Given the description of an element on the screen output the (x, y) to click on. 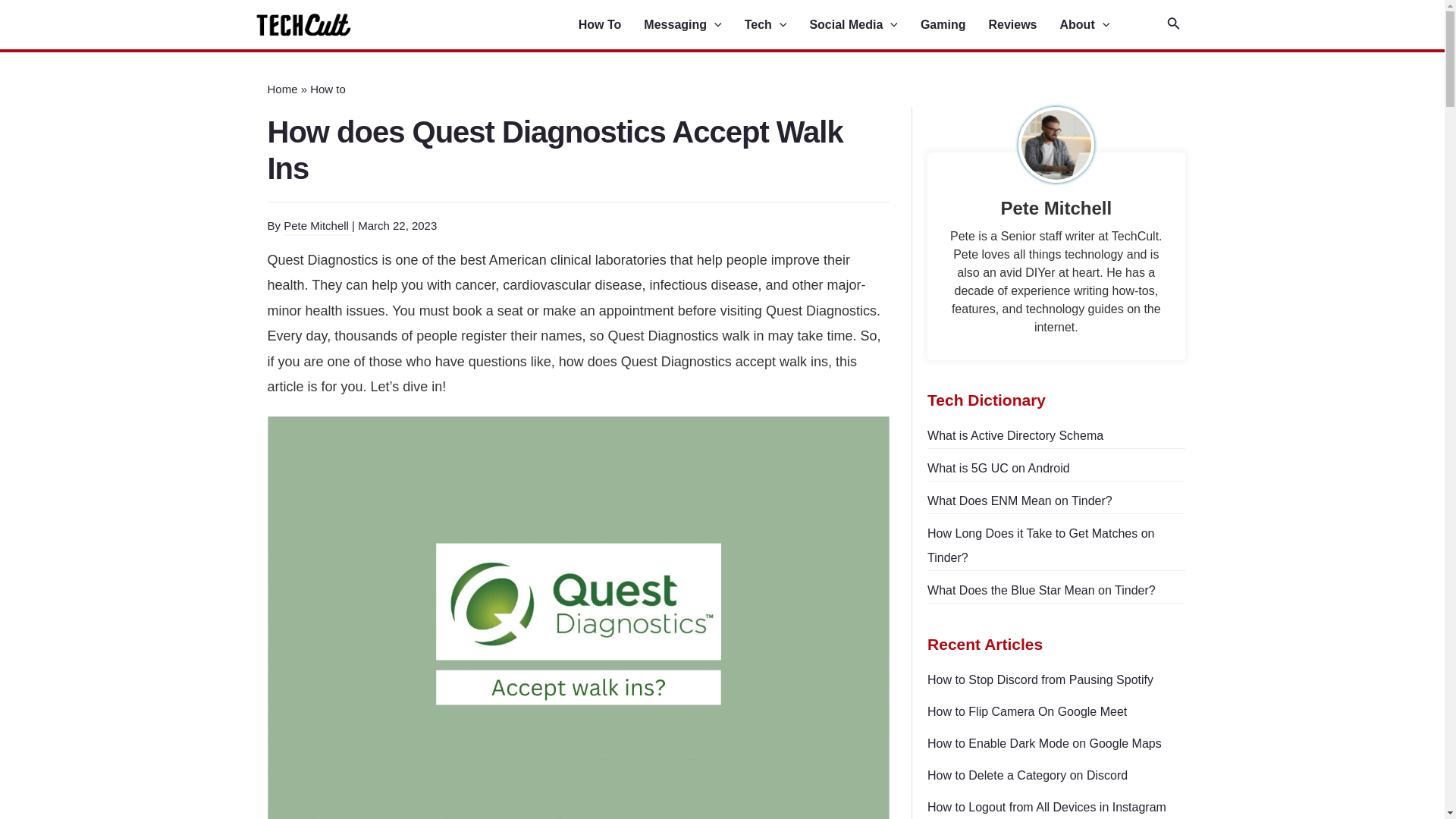
About (1095, 25)
View all posts by Pete Mitchell (317, 226)
Home (281, 88)
Gaming (954, 25)
How To (611, 25)
Messaging (693, 25)
Reviews (1023, 25)
Social Media (864, 25)
Tech (776, 25)
